Given the description of an element on the screen output the (x, y) to click on. 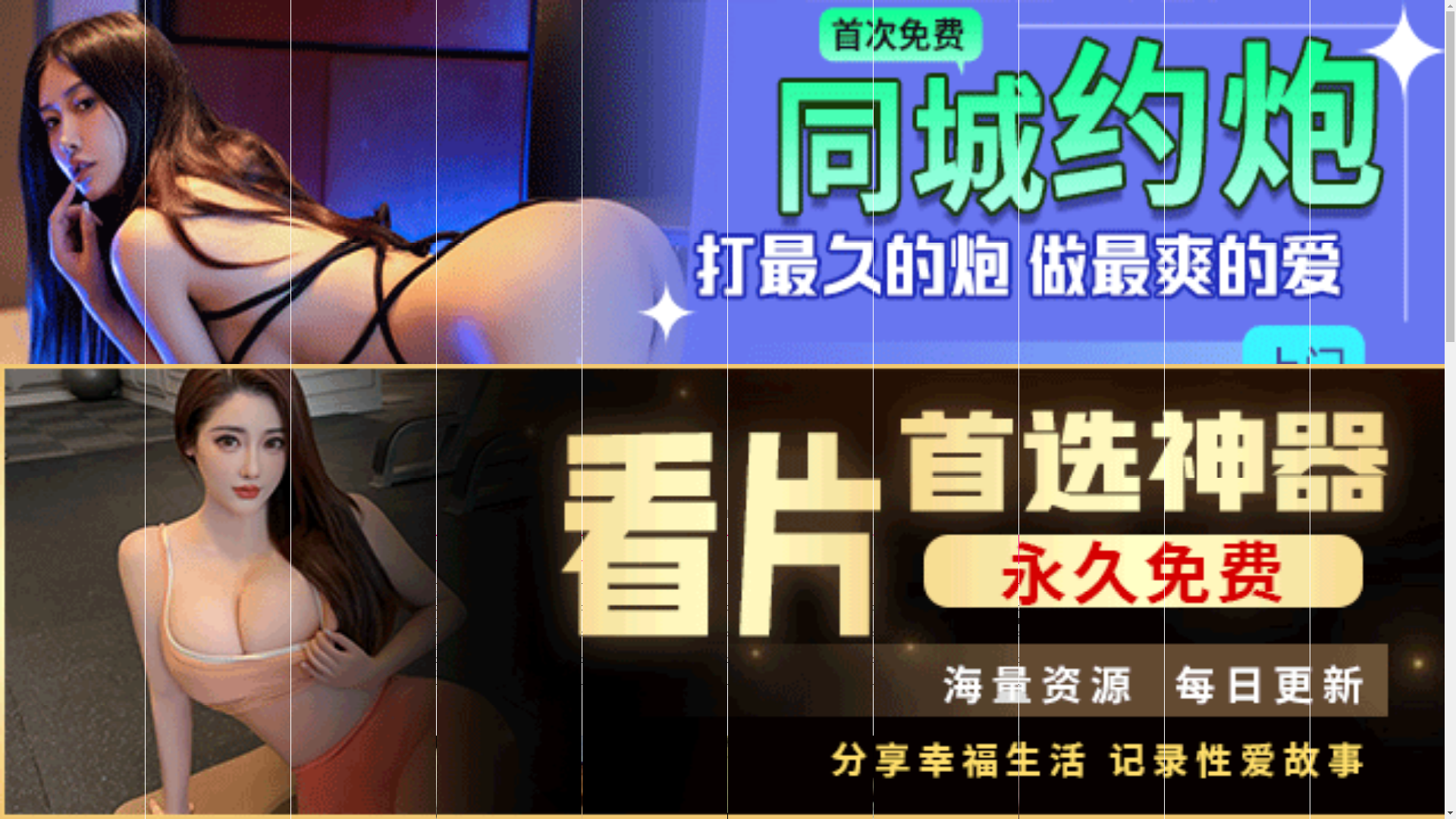
91TV Element type: hover (1240, 593)
91 Element type: text (567, 594)
Korean Element type: text (700, 620)
COS Element type: text (835, 646)
SM Element type: text (1013, 620)
3P Element type: text (968, 620)
